Given the description of an element on the screen output the (x, y) to click on. 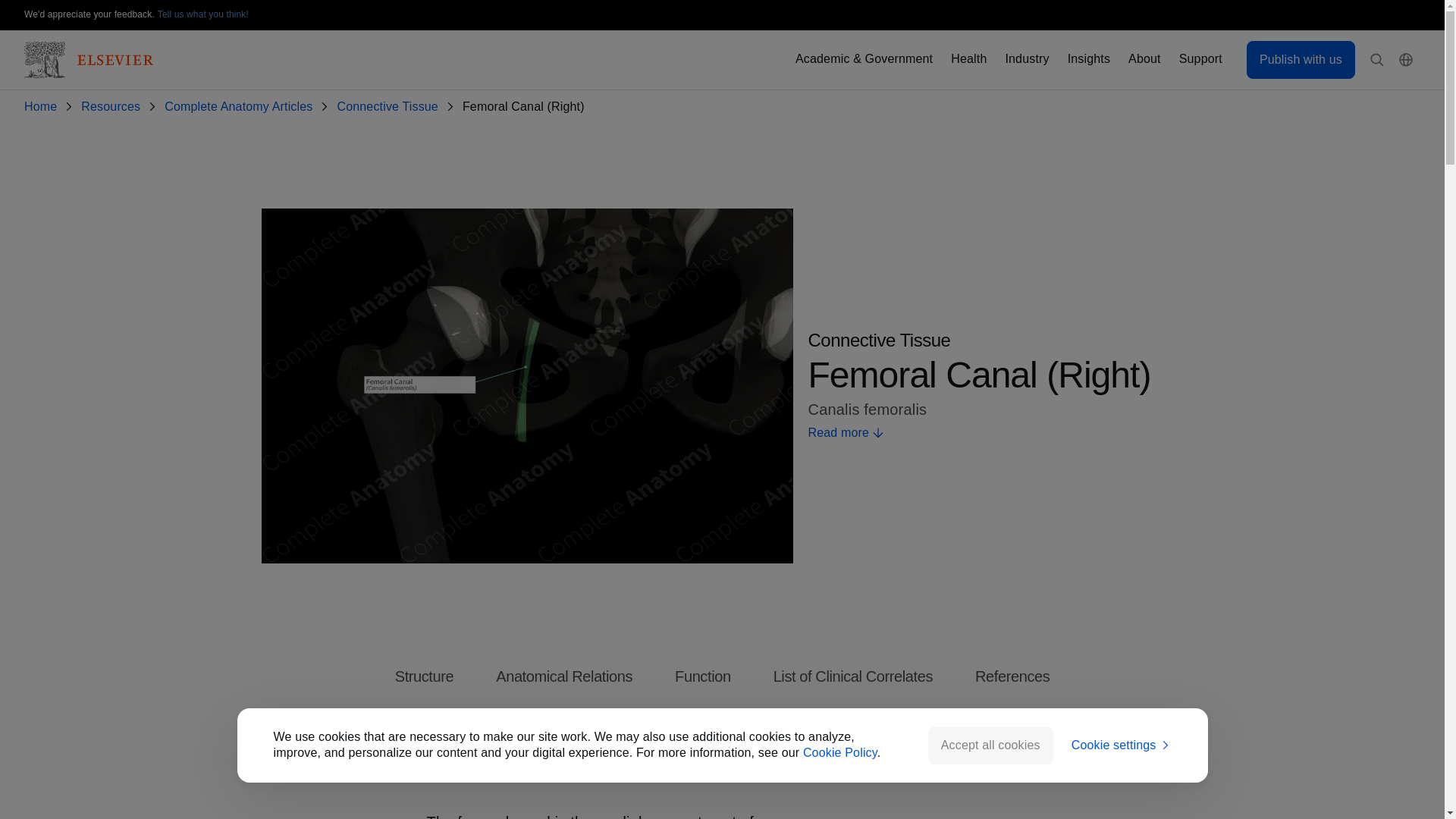
Accept all cookies (990, 745)
Industry (1026, 59)
Open Search (1376, 59)
Resources (114, 107)
Home (43, 107)
Cookie Policy (840, 752)
Cookie settings (1121, 745)
Structure (424, 676)
Connective Tissue (390, 107)
List of Clinical Correlates (853, 676)
